Given the description of an element on the screen output the (x, y) to click on. 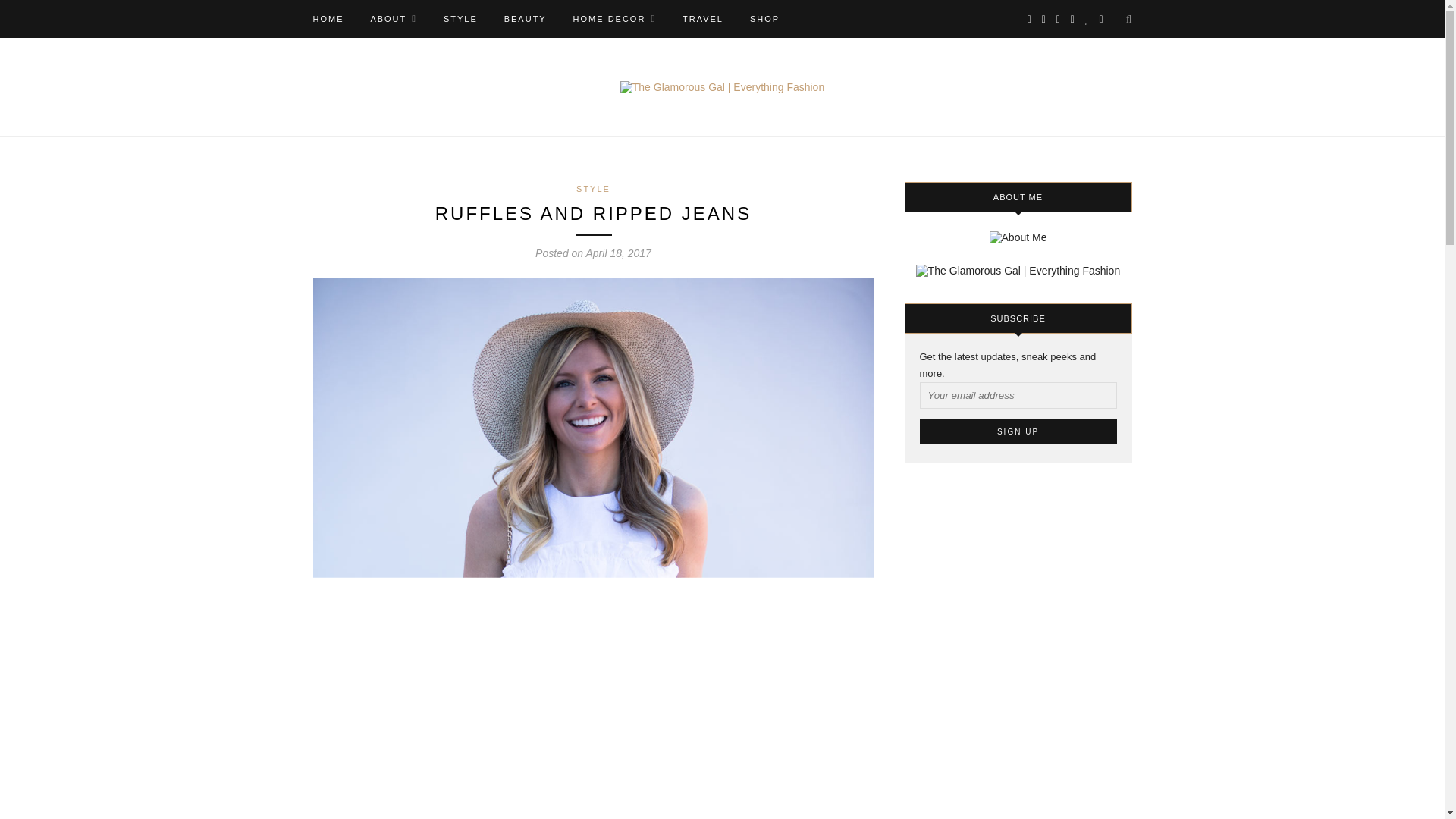
About Me (392, 18)
STYLE (460, 18)
HOME DECOR (614, 18)
BEAUTY (525, 18)
TRAVEL (702, 18)
ABOUT (392, 18)
Sign up (1017, 431)
STYLE (593, 188)
